Given the description of an element on the screen output the (x, y) to click on. 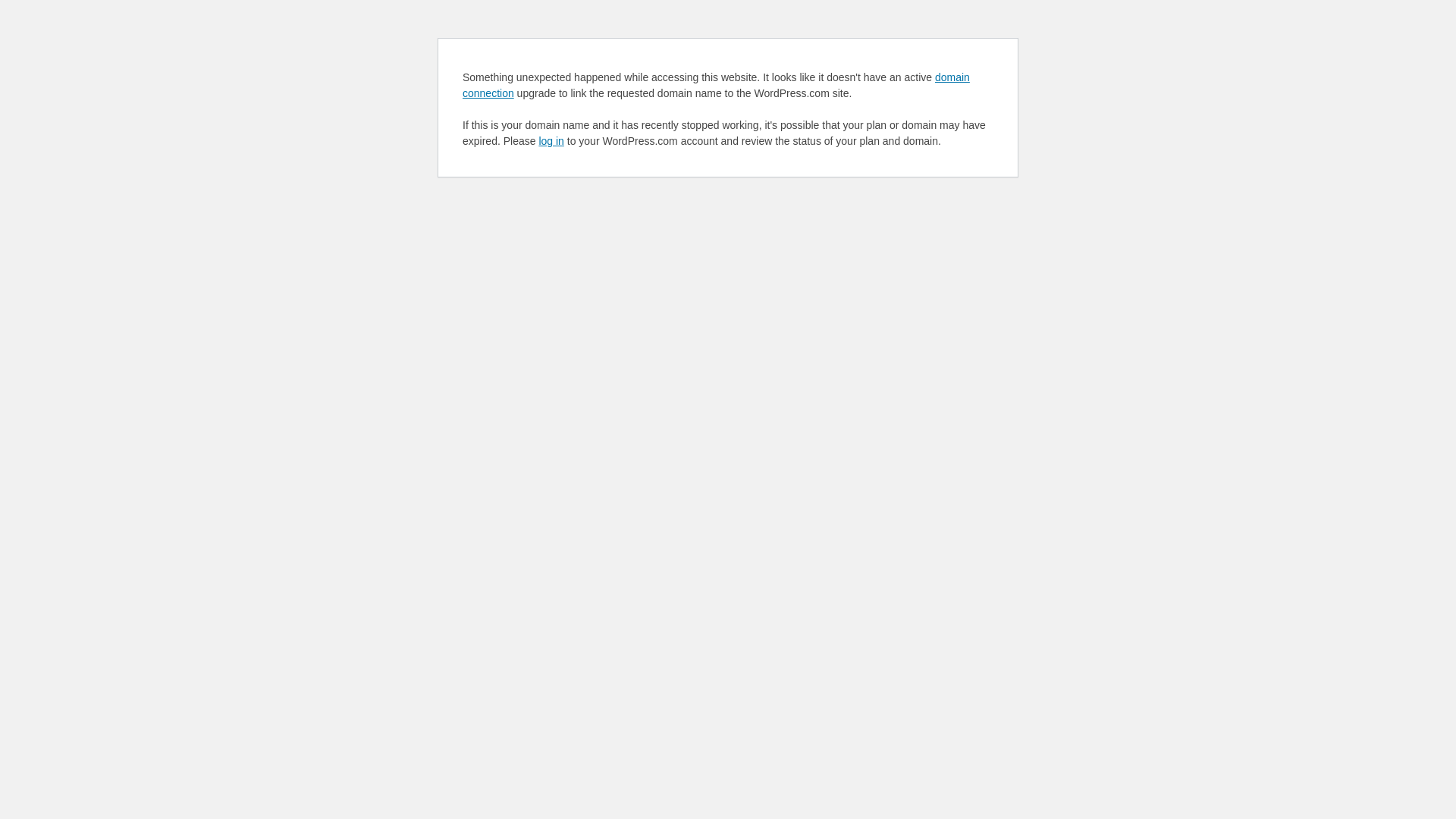
log in Element type: text (550, 140)
domain connection Element type: text (715, 85)
